Given the description of an element on the screen output the (x, y) to click on. 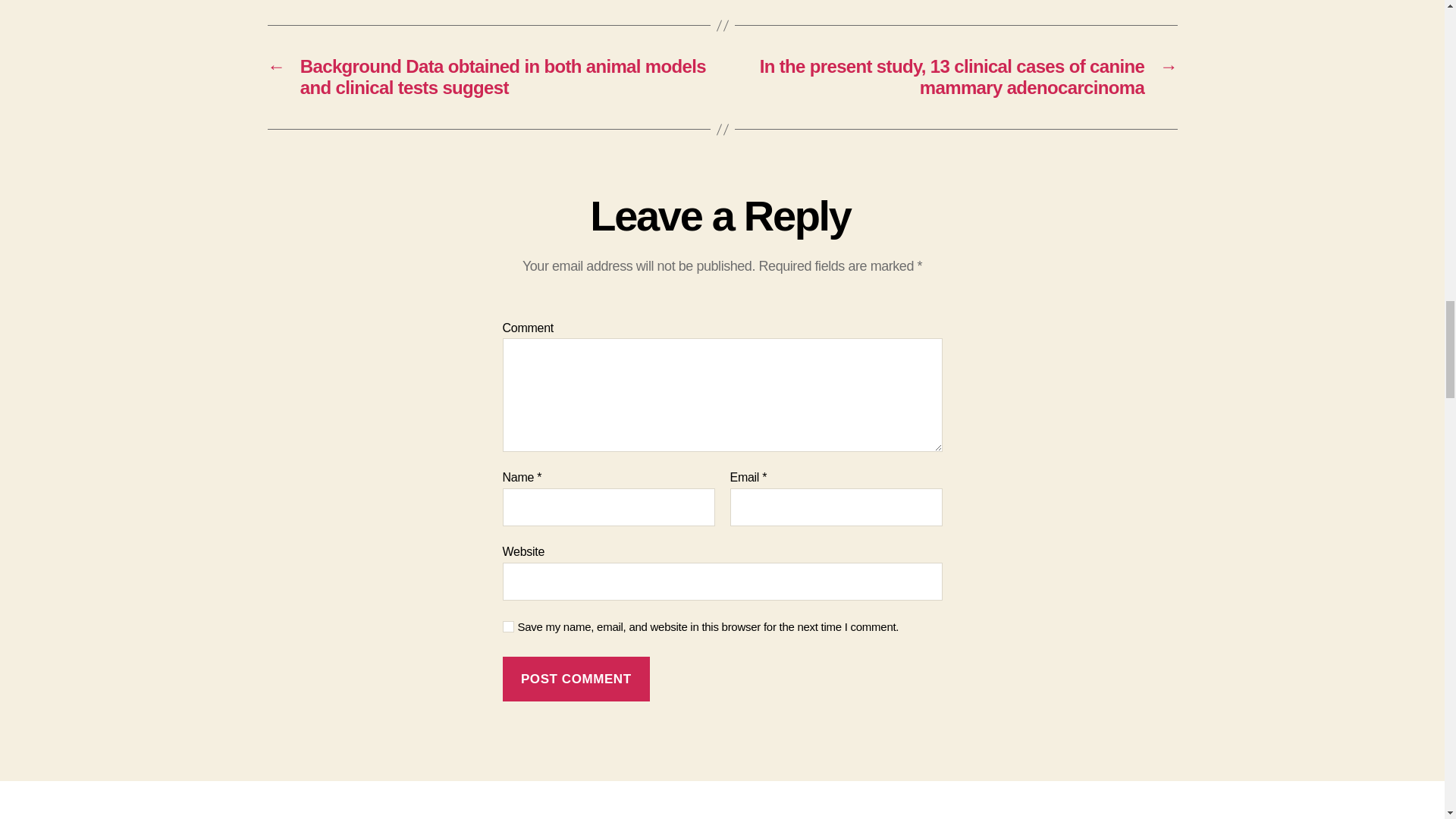
yes (507, 626)
Post Comment (575, 678)
Post Comment (575, 678)
